Given the description of an element on the screen output the (x, y) to click on. 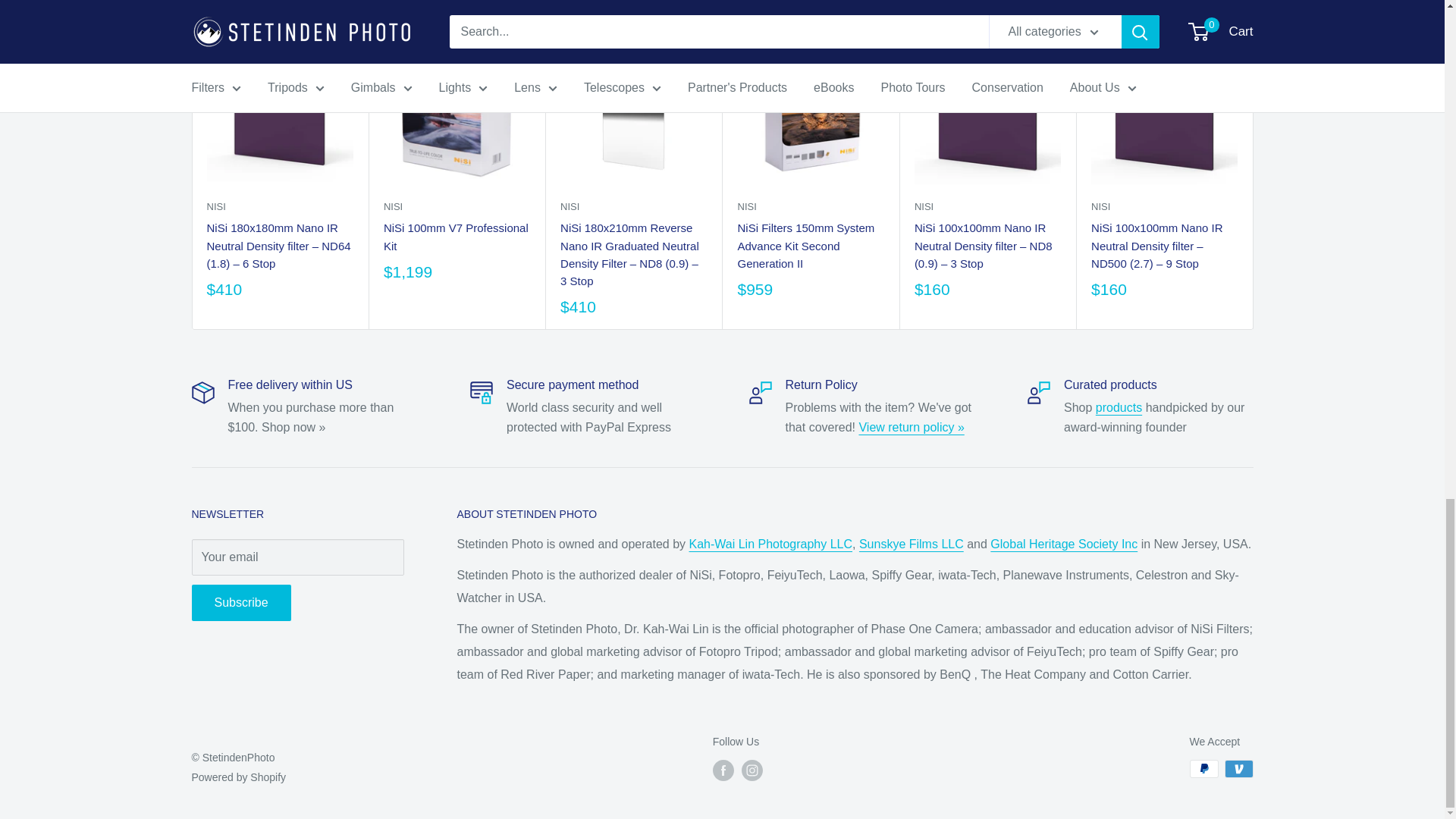
All Products (1118, 407)
Return Policy (911, 427)
